Given the description of an element on the screen output the (x, y) to click on. 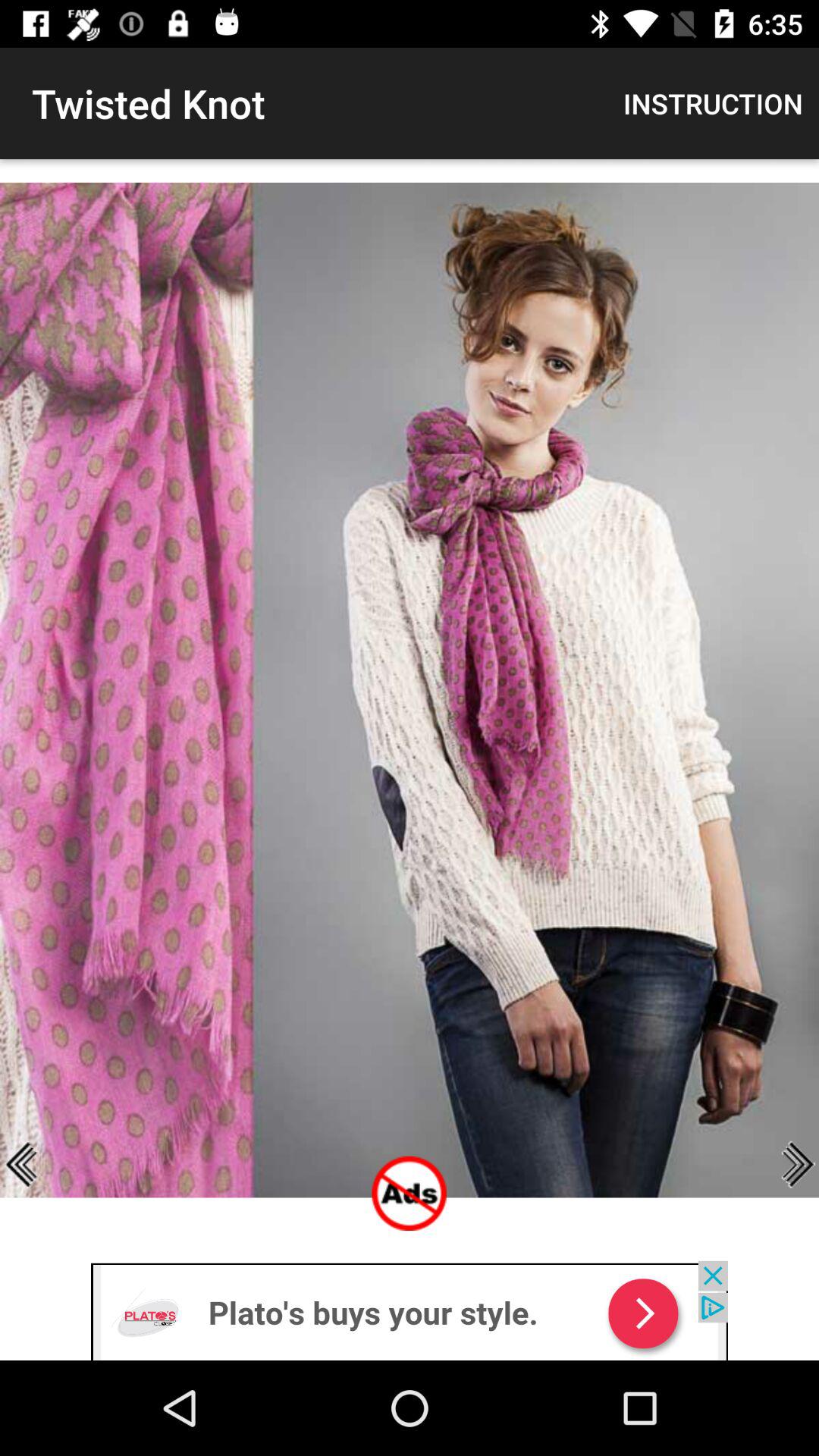
press instruction item (713, 103)
